Given the description of an element on the screen output the (x, y) to click on. 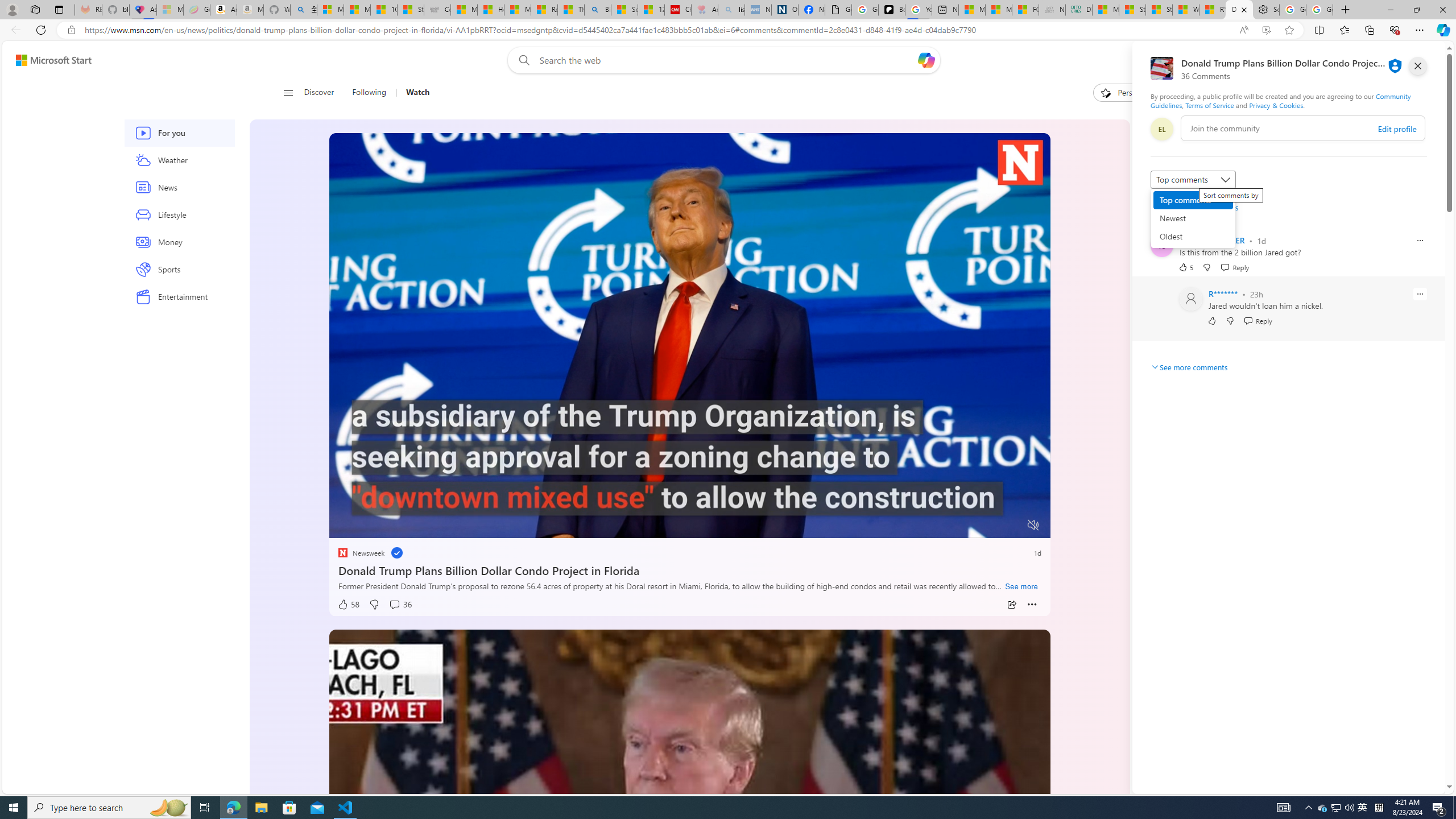
comment-box (1302, 127)
Personalize (1128, 92)
Web search (520, 60)
Class: at-item inline-watch (1031, 604)
5 Like (1185, 267)
Dislike (1230, 320)
View comments 36 Comment (400, 604)
